Given the description of an element on the screen output the (x, y) to click on. 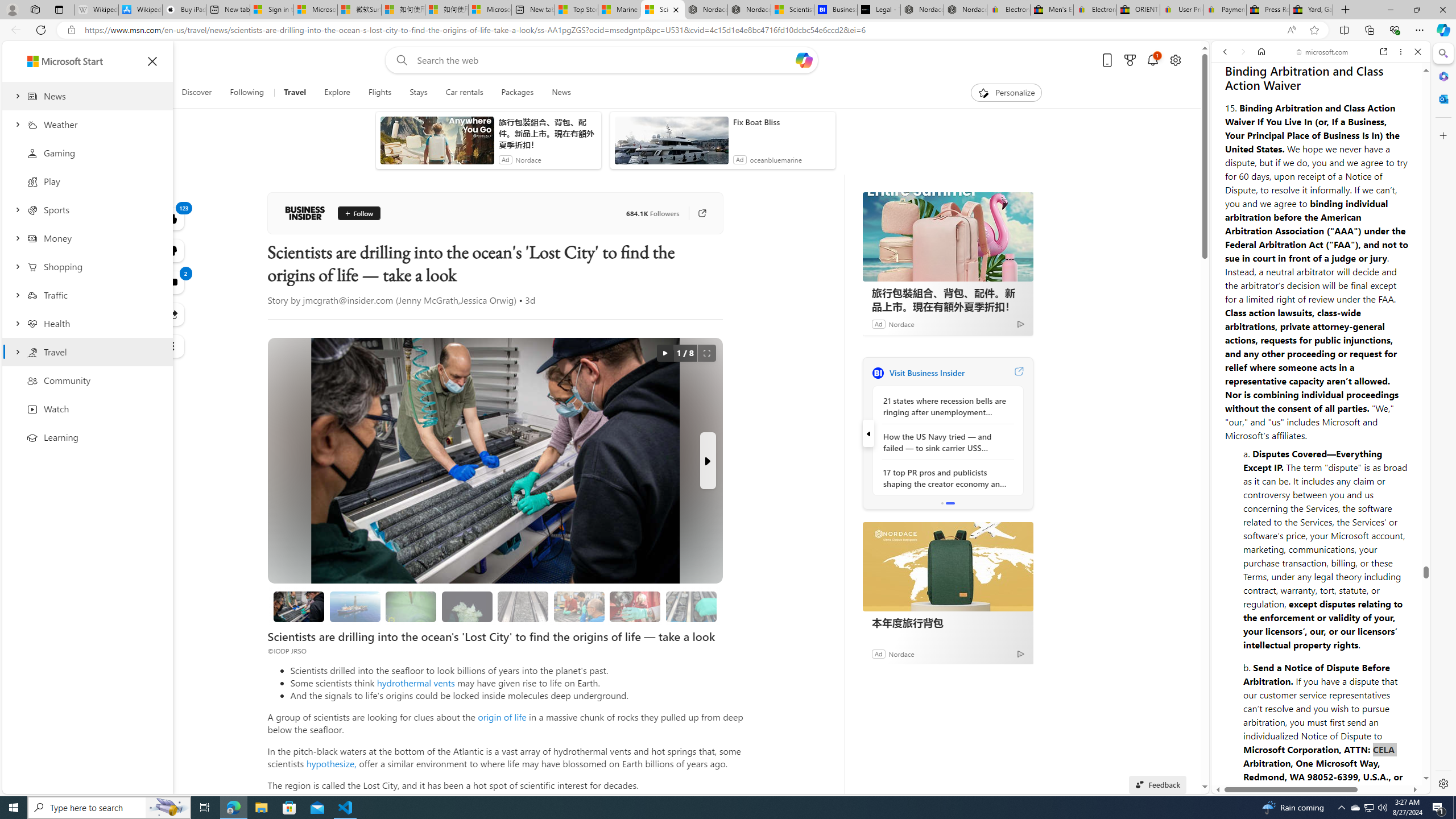
hydrothermal vents (415, 682)
Researchers are still studying the samples (690, 606)
anim-content (671, 144)
Class: at-item (172, 345)
